Given the description of an element on the screen output the (x, y) to click on. 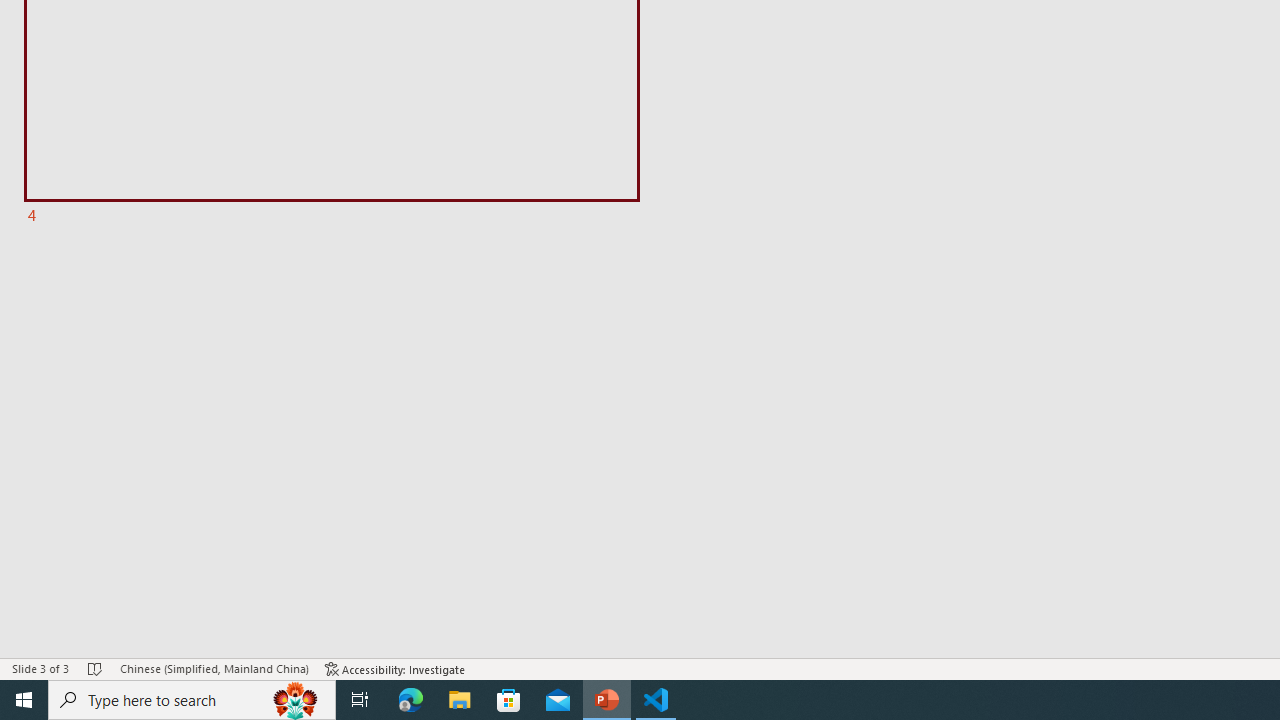
Accessibility Checker Accessibility: Investigate (395, 668)
